Given the description of an element on the screen output the (x, y) to click on. 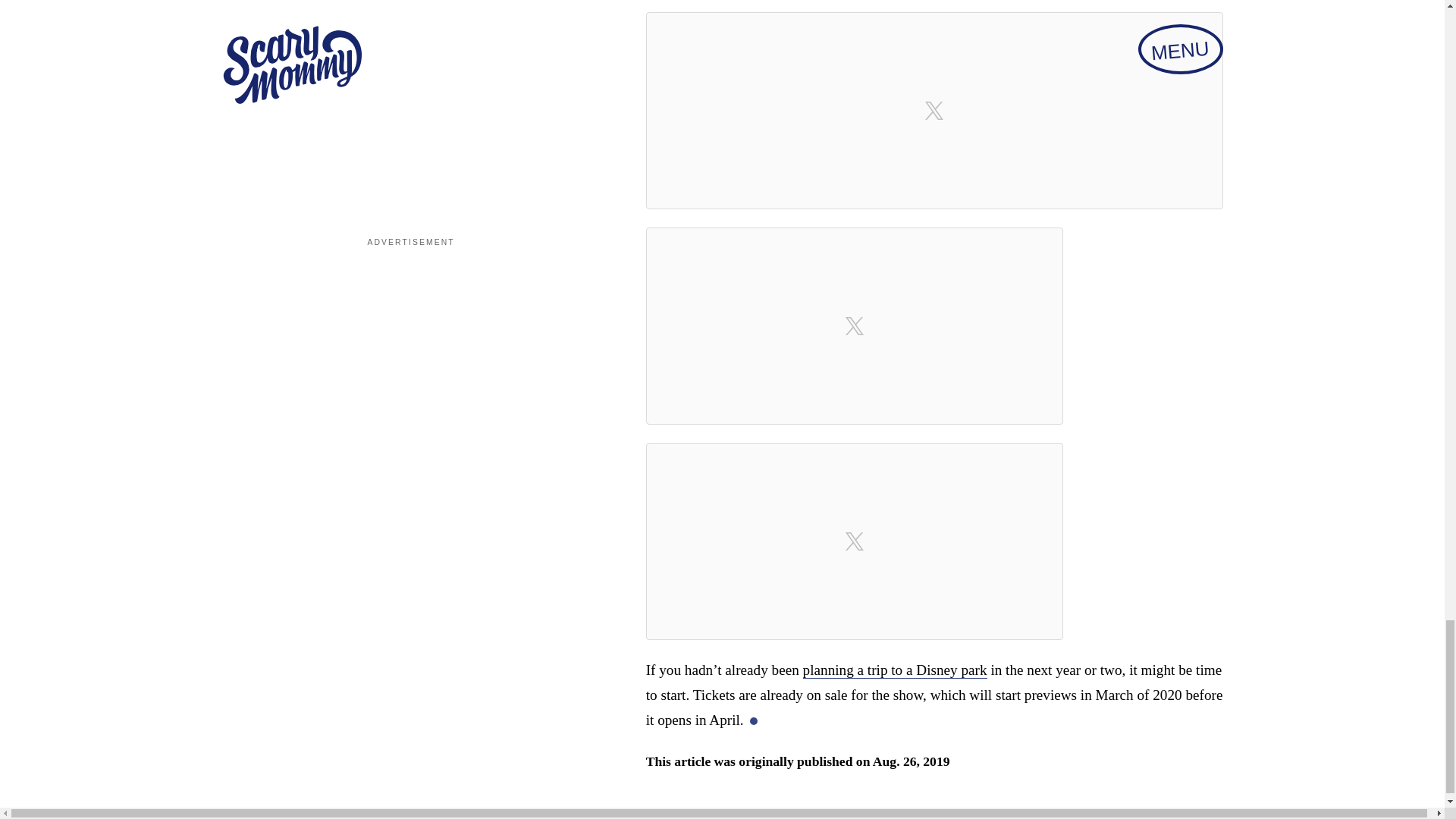
planning a trip to a Disney park (895, 669)
